Given the description of an element on the screen output the (x, y) to click on. 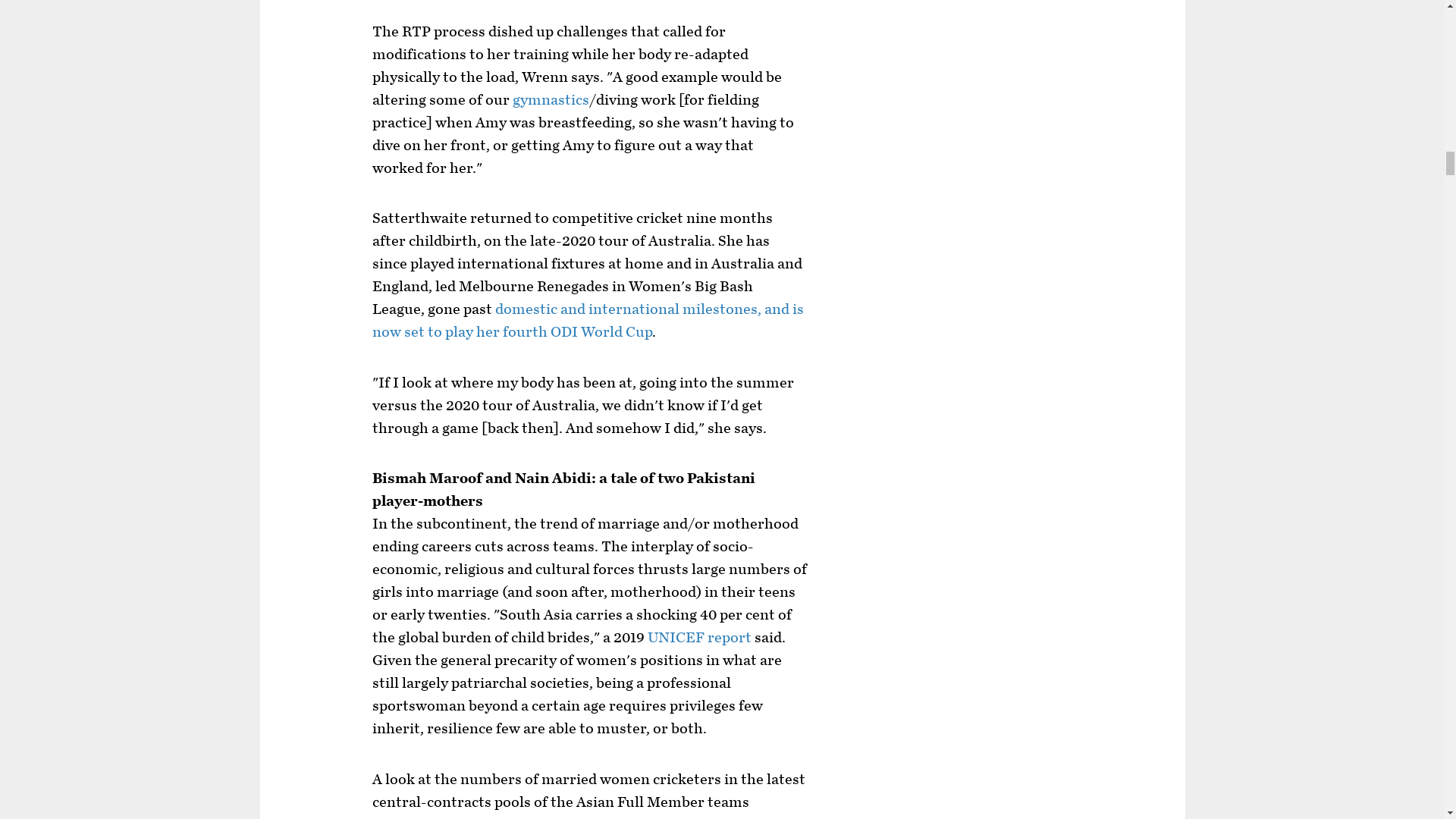
gymnastics (550, 99)
UNICEF report (699, 637)
her fourth ODI World Cup (564, 331)
